Given the description of an element on the screen output the (x, y) to click on. 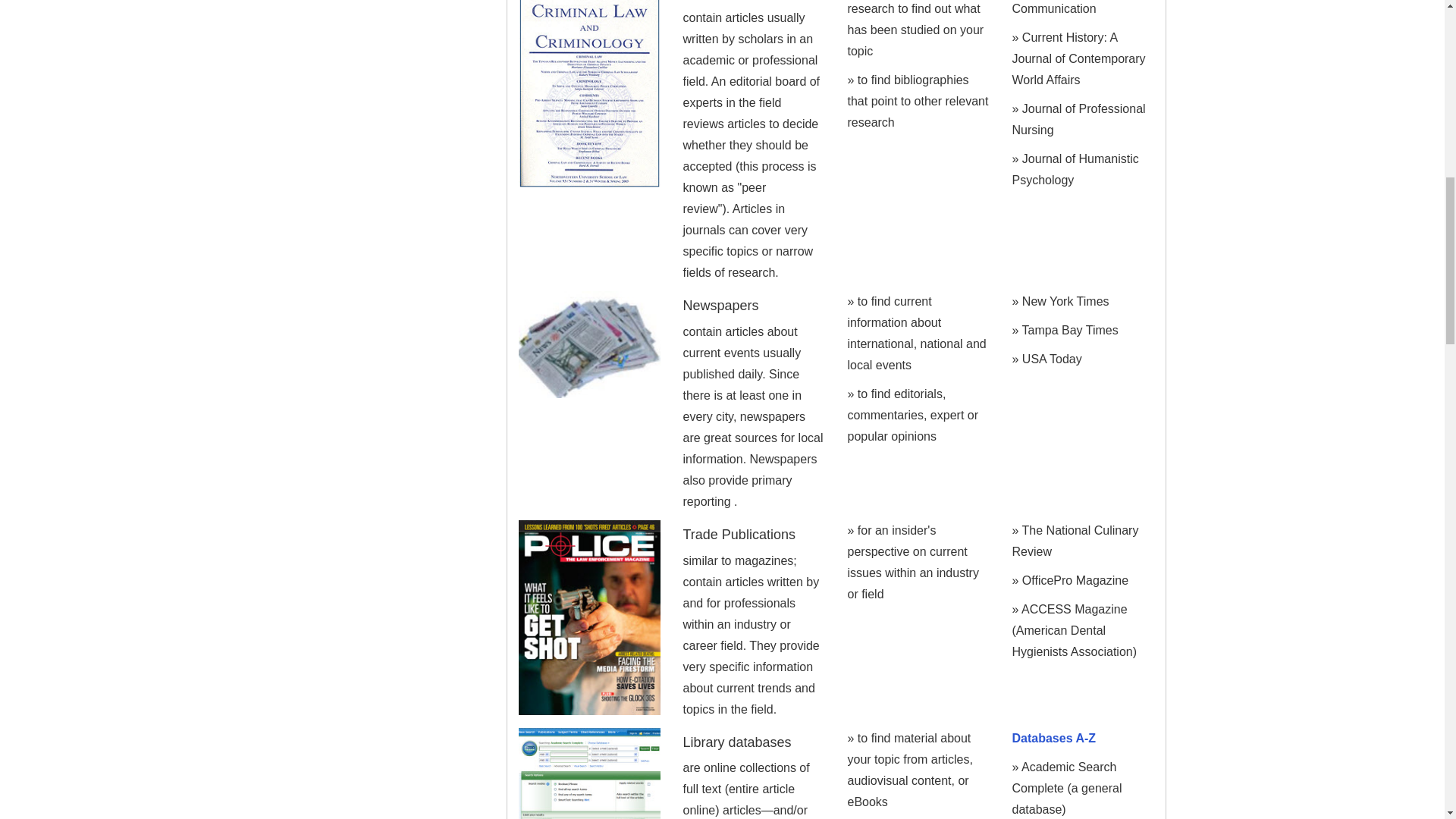
Databases A-Z (1053, 738)
